Given the description of an element on the screen output the (x, y) to click on. 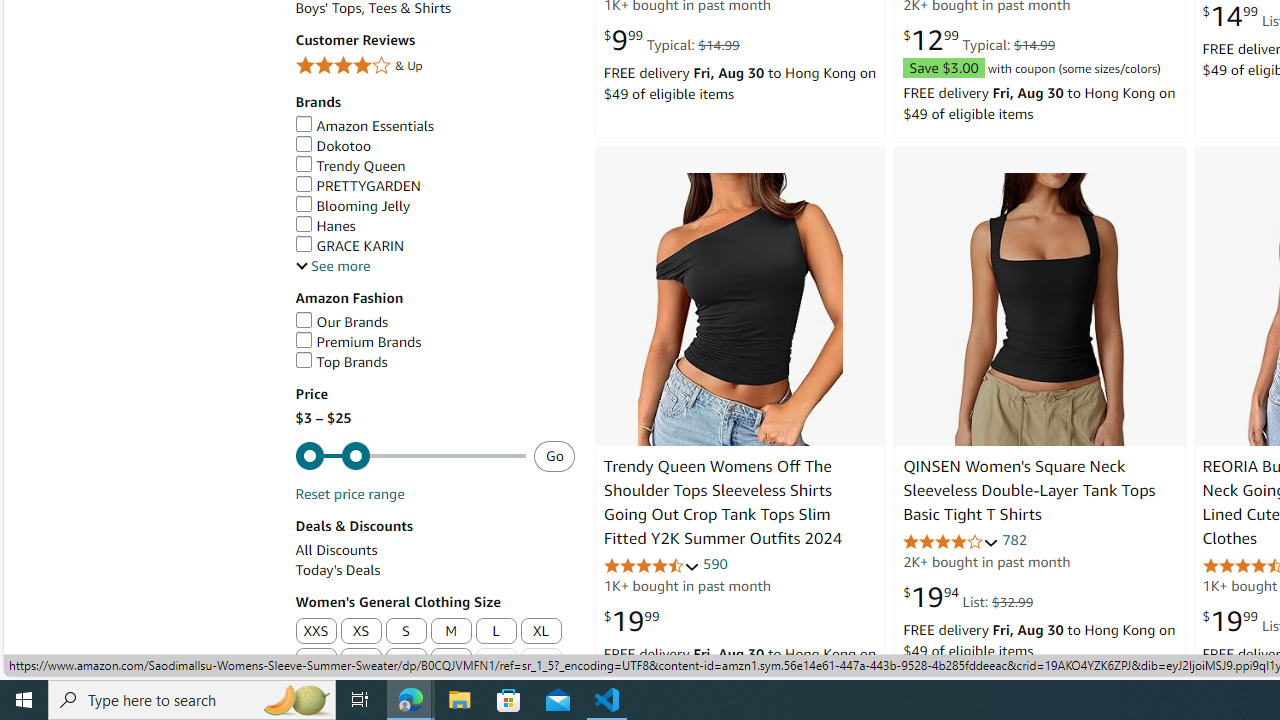
XS (360, 632)
S (406, 632)
6XL (495, 662)
4.3 out of 5 stars (651, 565)
Go back to filtering menu (84, 666)
XXL (315, 662)
